Given the description of an element on the screen output the (x, y) to click on. 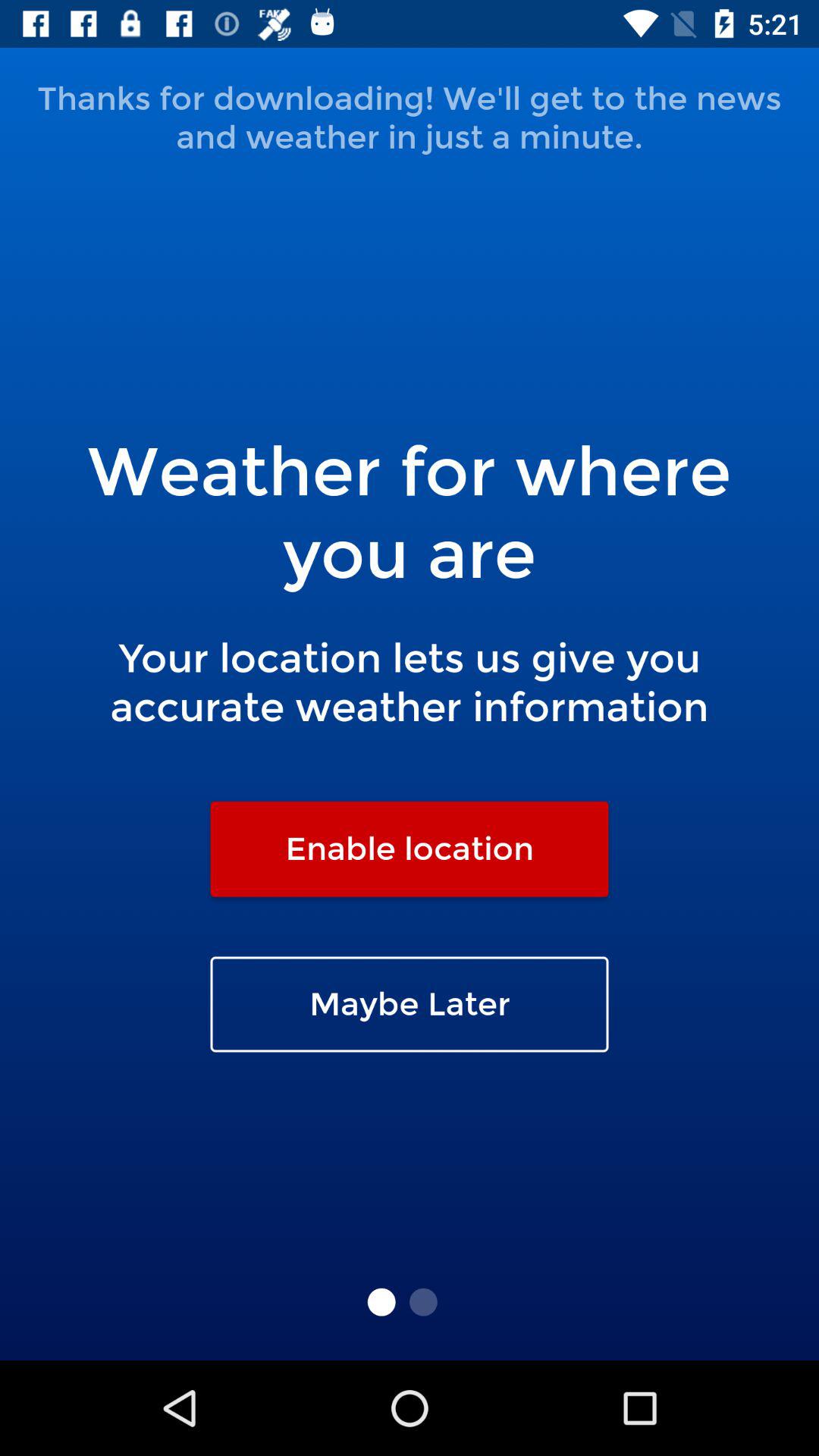
select the enable location item (409, 848)
